Given the description of an element on the screen output the (x, y) to click on. 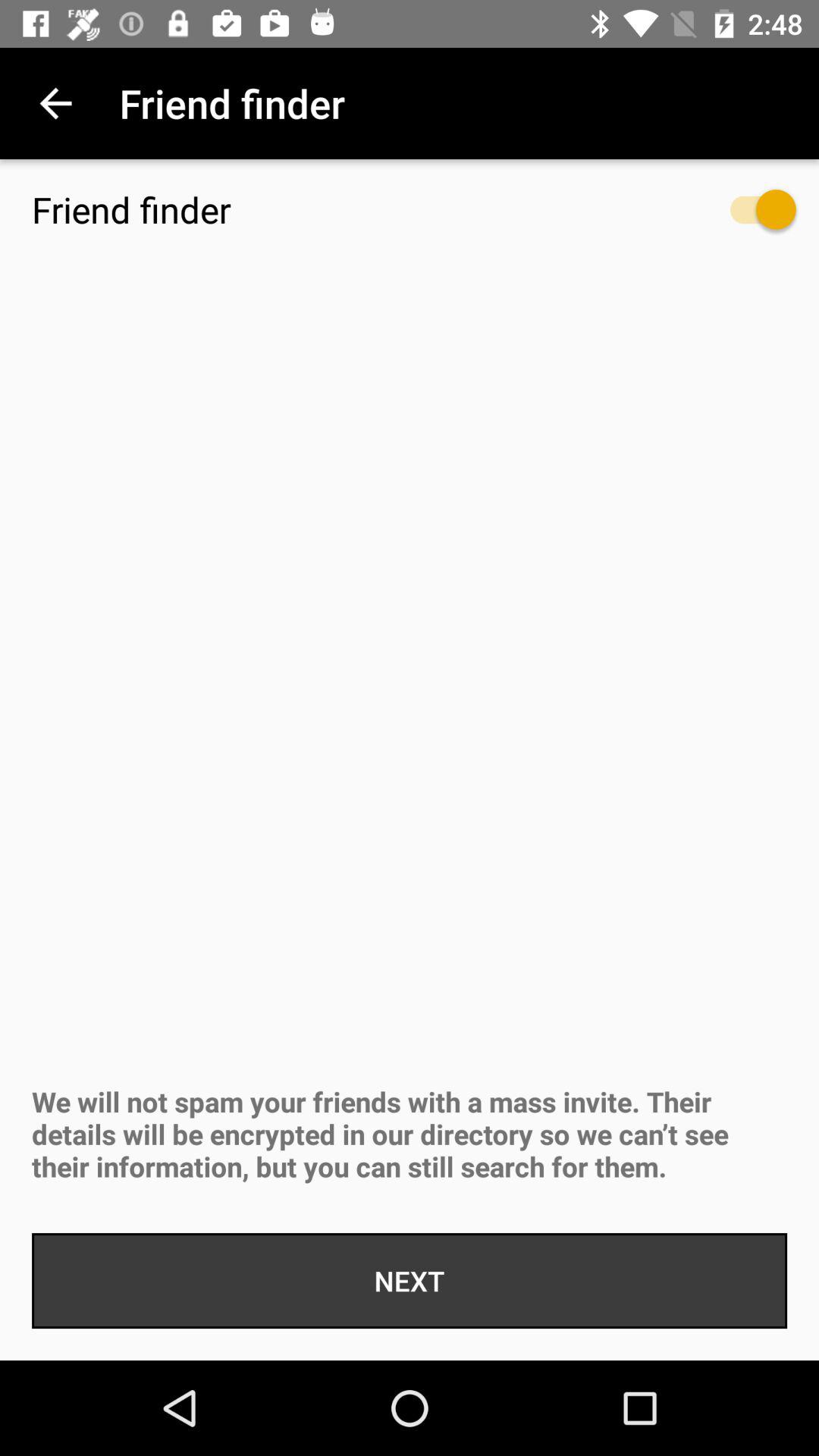
turn off the app next to friend finder icon (55, 103)
